Given the description of an element on the screen output the (x, y) to click on. 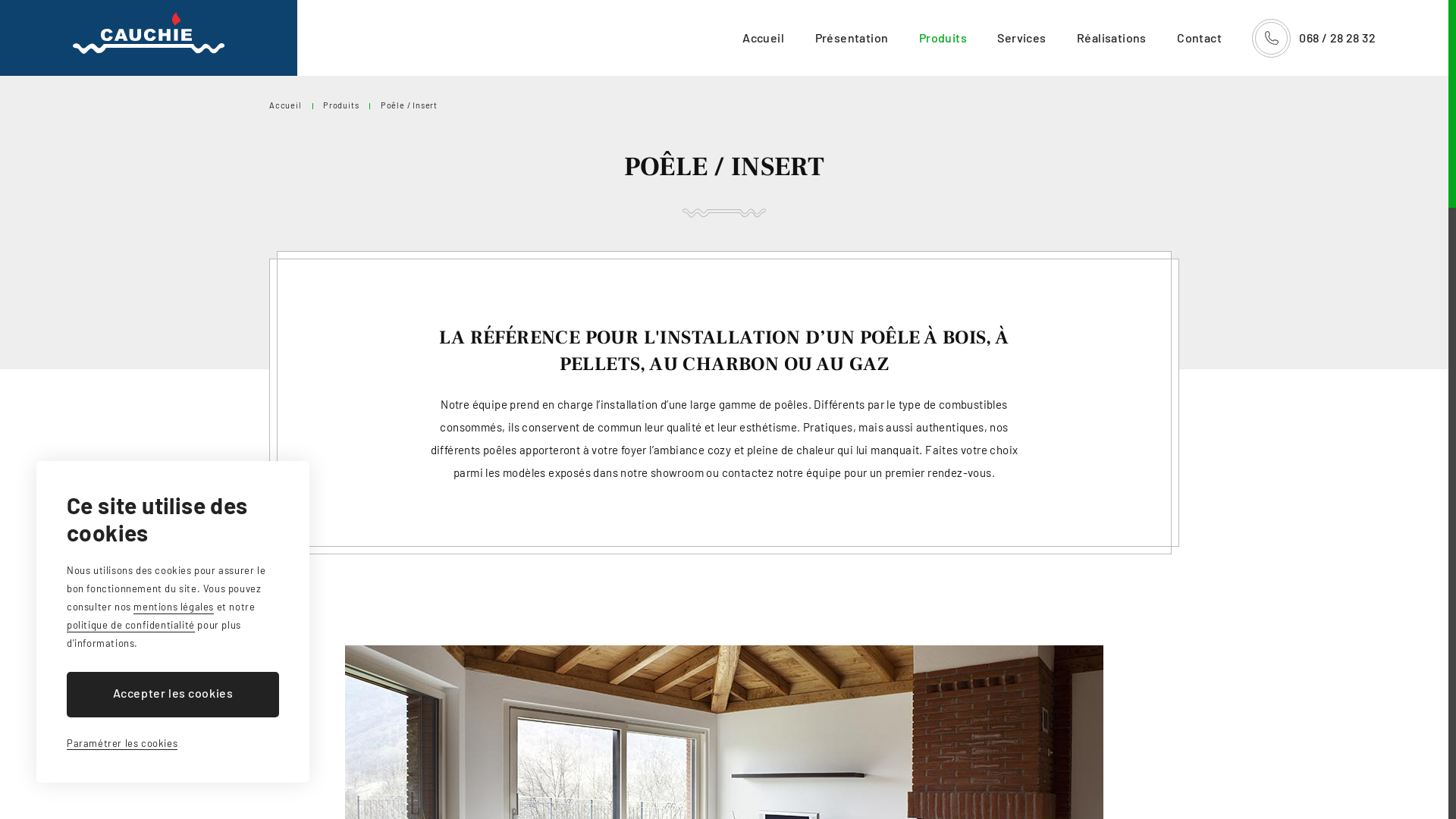
Services Element type: text (1021, 37)
Accueil Element type: hover (148, 32)
068 / 28 28 32 Element type: text (1313, 37)
Accueil Element type: text (285, 104)
Contact Element type: text (1198, 37)
Produits Element type: text (942, 37)
Accueil Element type: text (763, 37)
Produits Element type: text (340, 104)
